Given the description of an element on the screen output the (x, y) to click on. 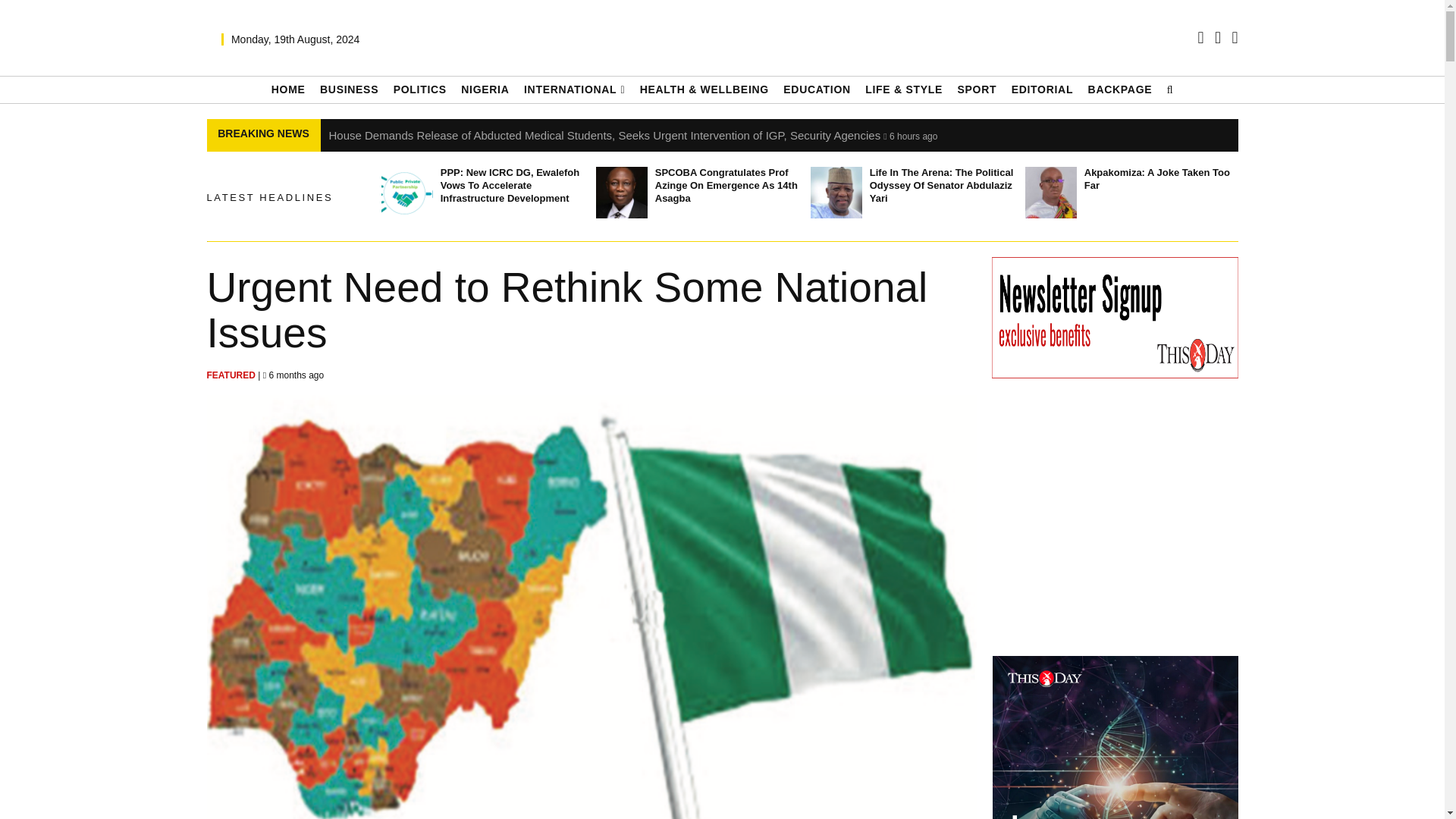
EDUCATION (816, 89)
SPCOBA Congratulates Prof Azinge on Emergence as 14th Asagba (621, 192)
HOME (287, 89)
NIGERIA (484, 89)
Akpakomiza: A Joke Taken Too Far (1051, 192)
SPORT (975, 89)
EDITORIAL (1042, 89)
BUSINESS (349, 89)
